Given the description of an element on the screen output the (x, y) to click on. 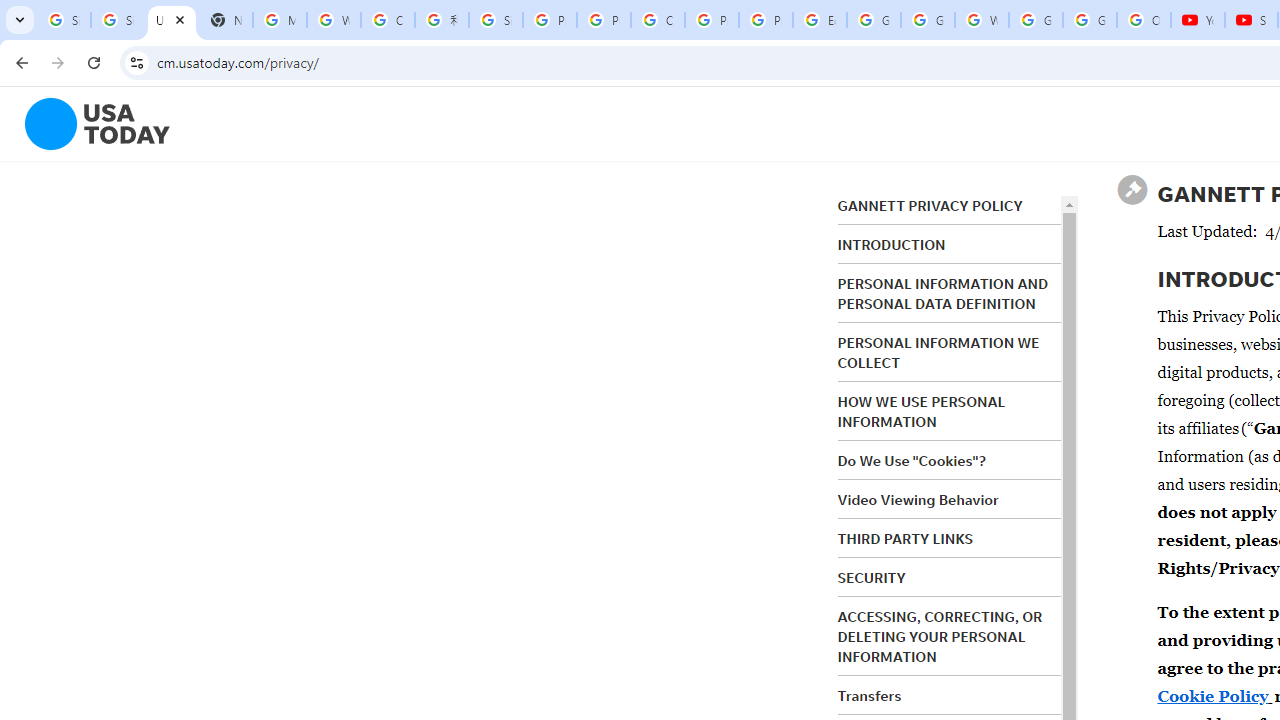
ACCESSING, CORRECTING, OR DELETING YOUR PERSONAL INFORMATION (940, 636)
YouTube (1197, 20)
Create your Google Account (387, 20)
Welcome to My Activity (981, 20)
To get missing image descriptions, open the context menu. (85, 124)
Do We Use "Cookies"? (911, 461)
Who is my administrator? - Google Account Help (333, 20)
PERSONAL INFORMATION AND PERSONAL DATA DEFINITION (943, 294)
INTRODUCTION (891, 245)
